Given the description of an element on the screen output the (x, y) to click on. 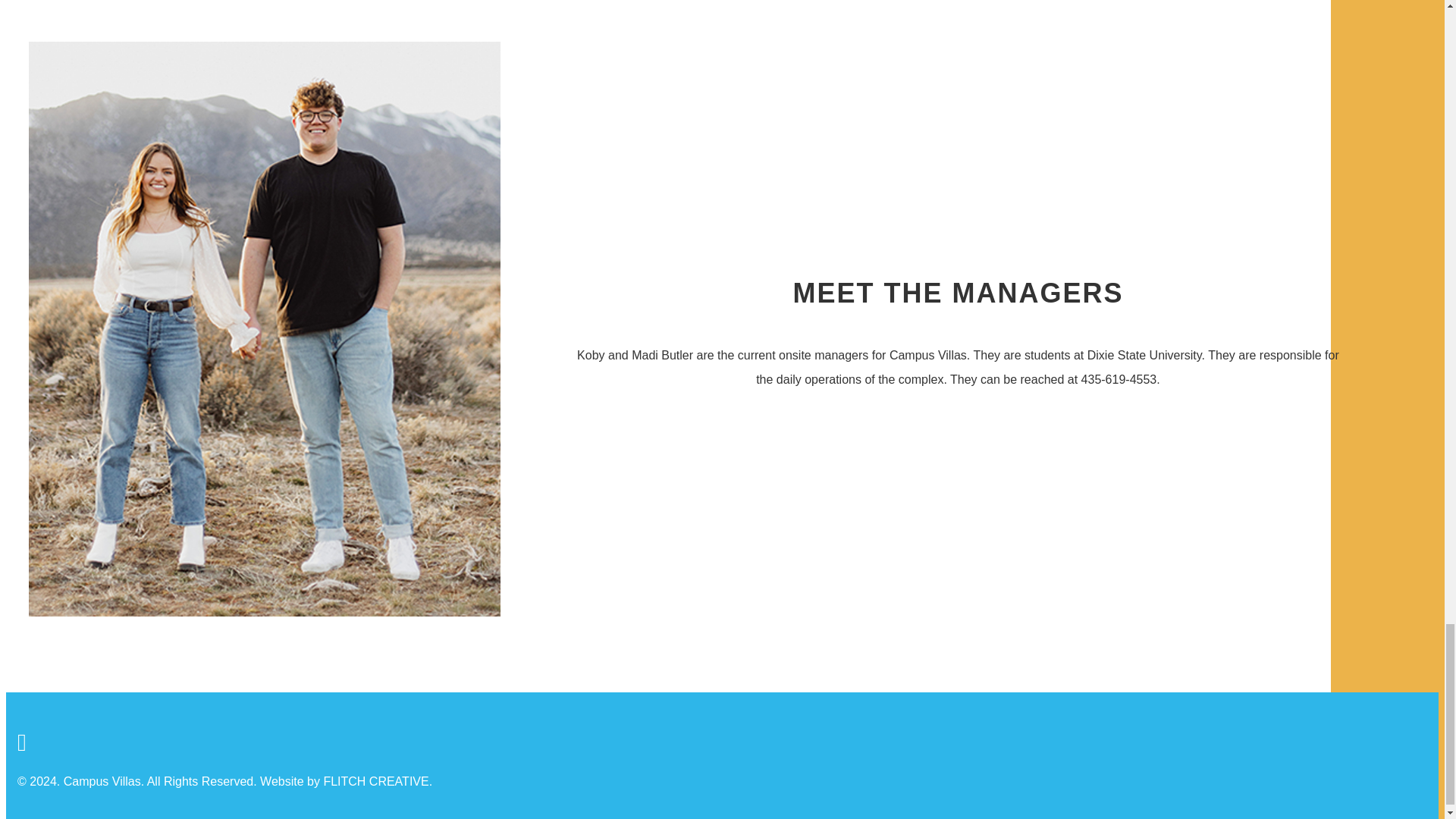
FLITCH CREATIVE (375, 780)
